Given the description of an element on the screen output the (x, y) to click on. 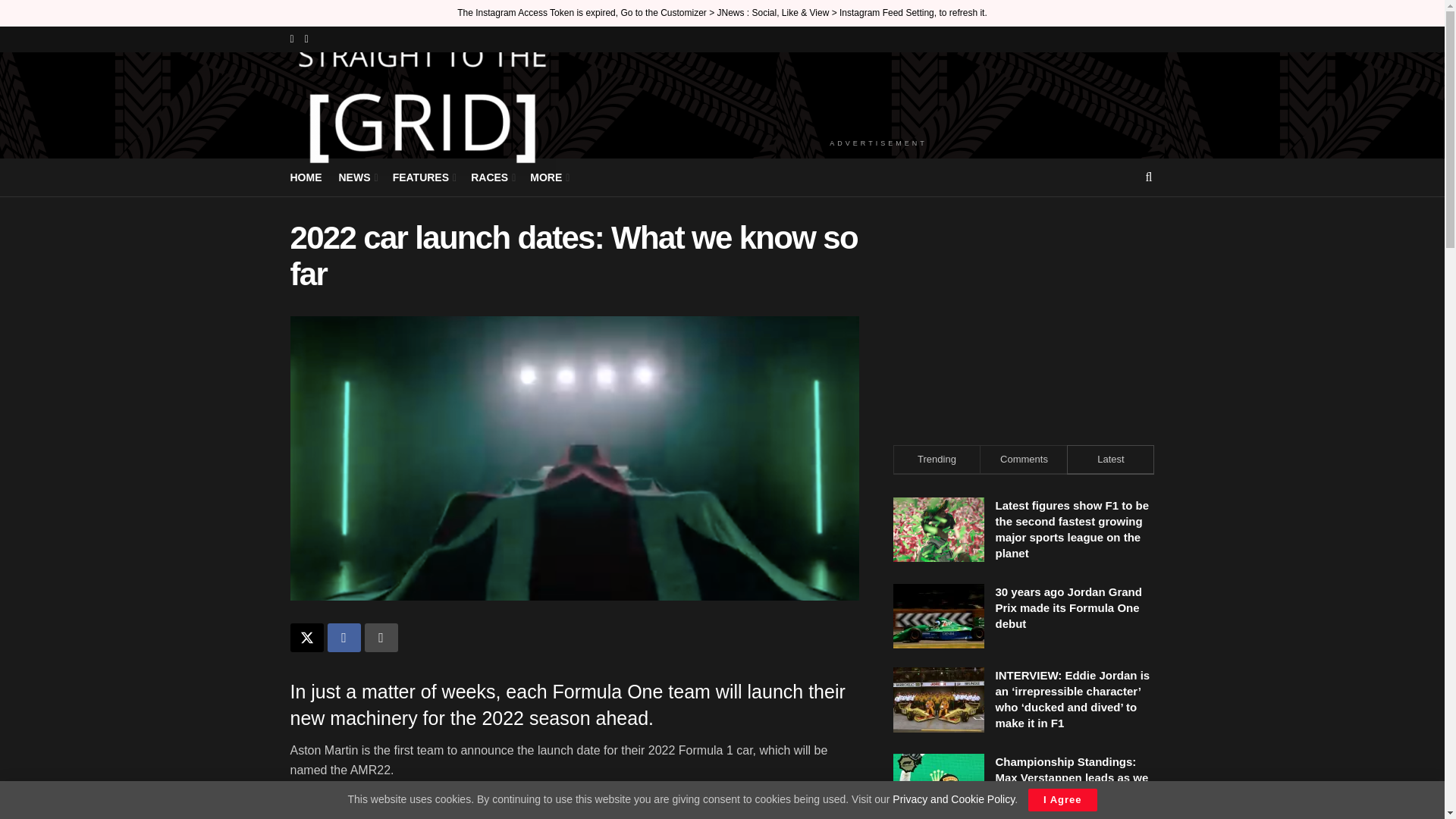
HOME (305, 177)
Advertisement (878, 92)
Advertisement (574, 807)
NEWS (356, 177)
FEATURES (423, 177)
Advertisement (1023, 314)
